Given the description of an element on the screen output the (x, y) to click on. 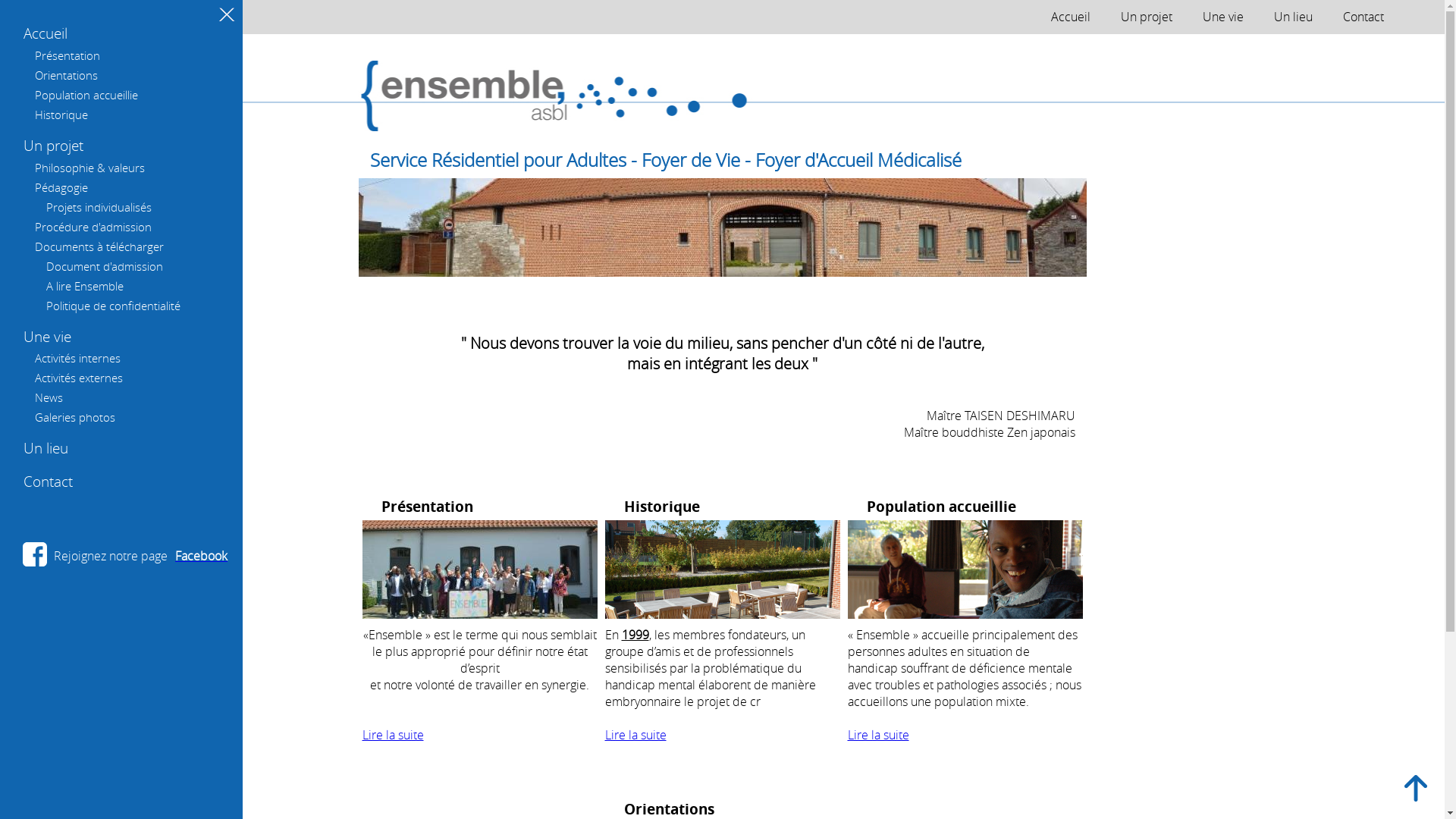
Une vie Element type: text (1222, 17)
Un lieu Element type: text (45, 448)
Une vie Element type: text (47, 336)
Accueil Element type: text (1070, 17)
Population accueillie Element type: text (86, 94)
Contact Element type: text (1363, 17)
News Element type: text (48, 396)
Galeries photos Element type: text (74, 416)
Philosophie & valeurs Element type: text (89, 167)
Un lieu Element type: text (1293, 17)
Lire la suite Element type: text (635, 734)
Facebook Element type: text (199, 555)
Orientations Element type: text (65, 74)
Accueil Element type: text (45, 33)
Lire la suite Element type: text (878, 734)
Contact Element type: text (47, 481)
Un projet Element type: text (1146, 17)
A lire Ensemble Element type: text (84, 285)
Historique Element type: text (60, 114)
Document d'admission Element type: text (104, 265)
Lire la suite Element type: text (392, 734)
Un projet Element type: text (53, 145)
